Given the description of an element on the screen output the (x, y) to click on. 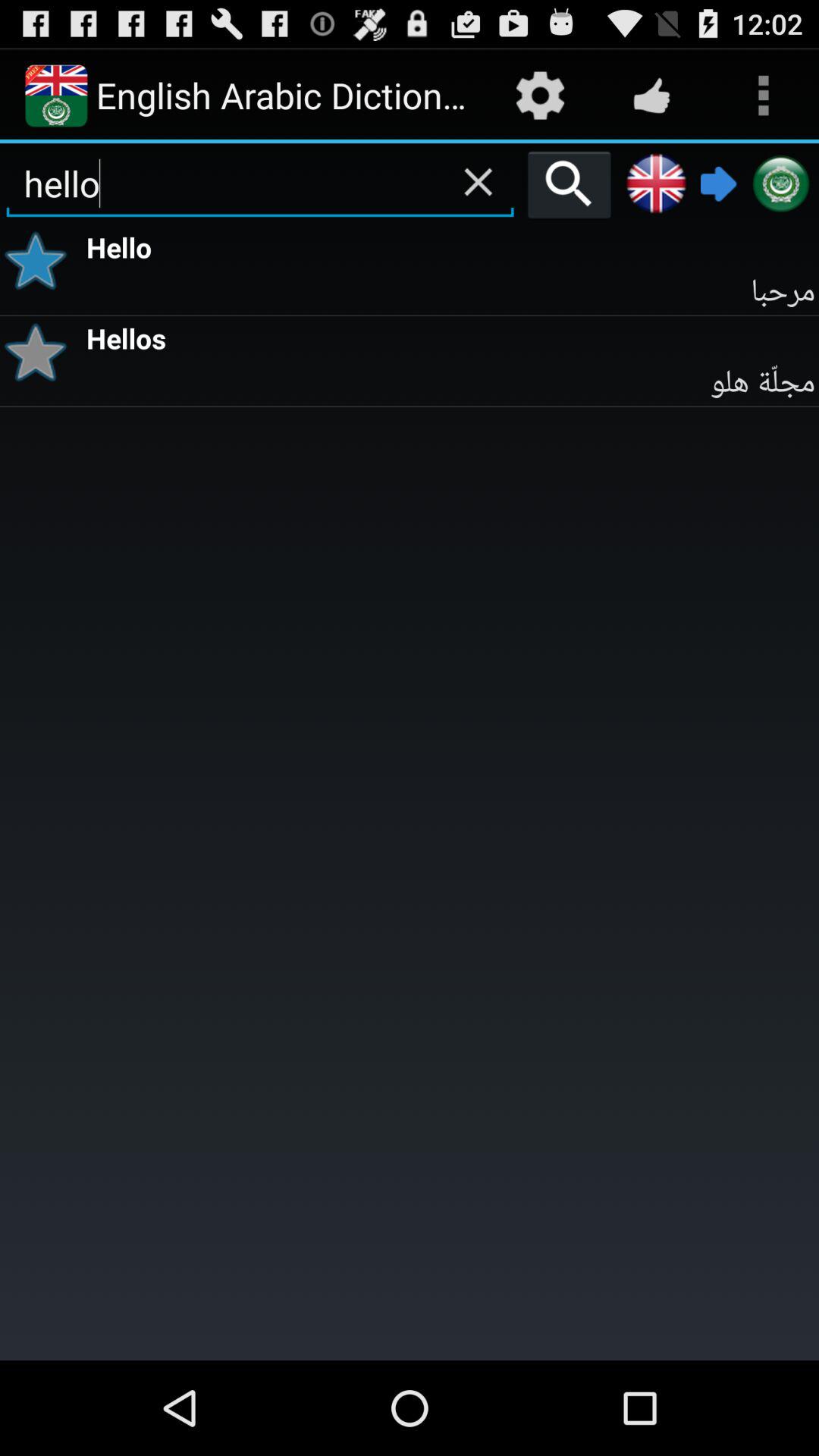
tap icon above hello icon (569, 184)
